Given the description of an element on the screen output the (x, y) to click on. 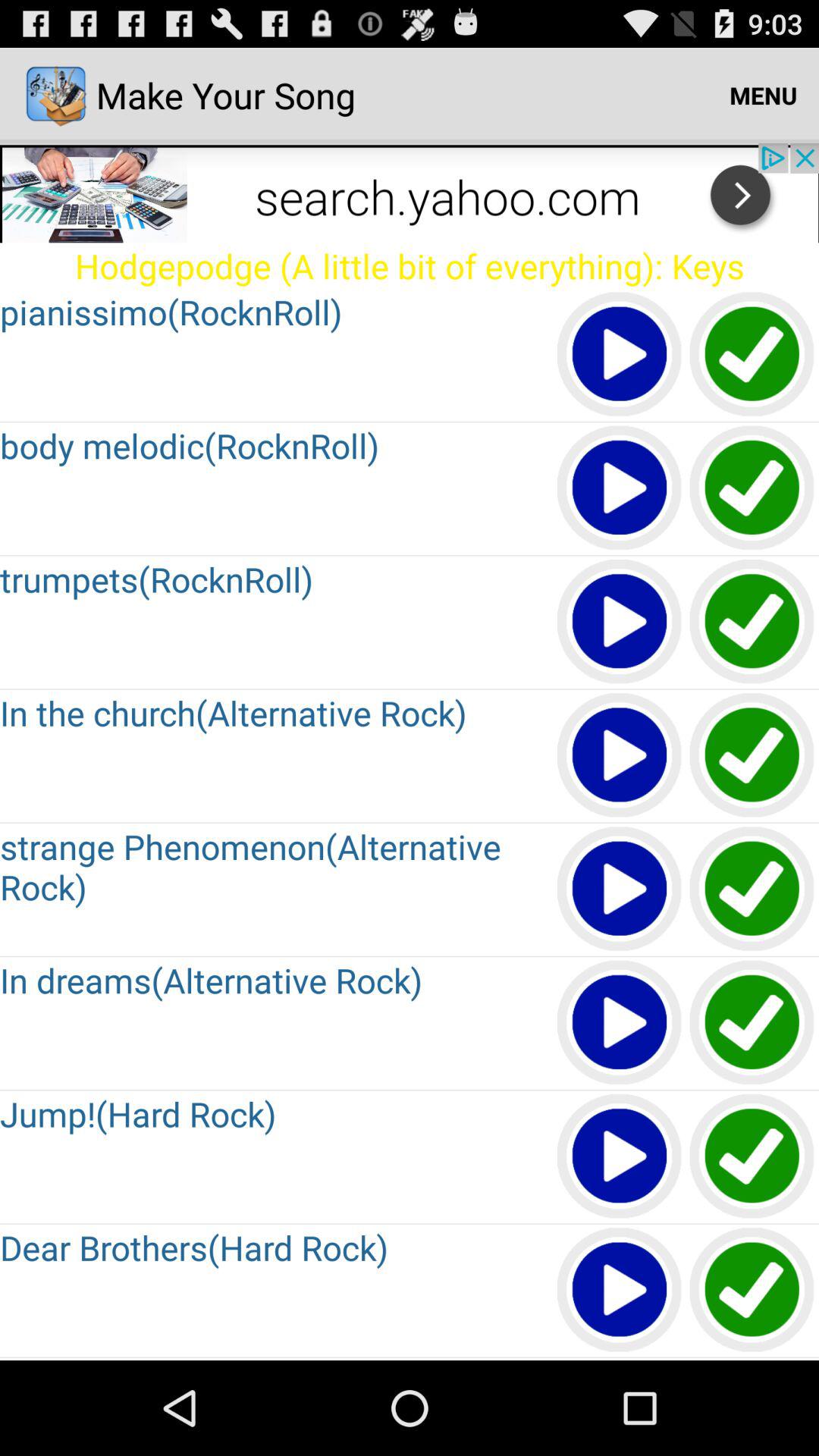
select button (752, 622)
